Given the description of an element on the screen output the (x, y) to click on. 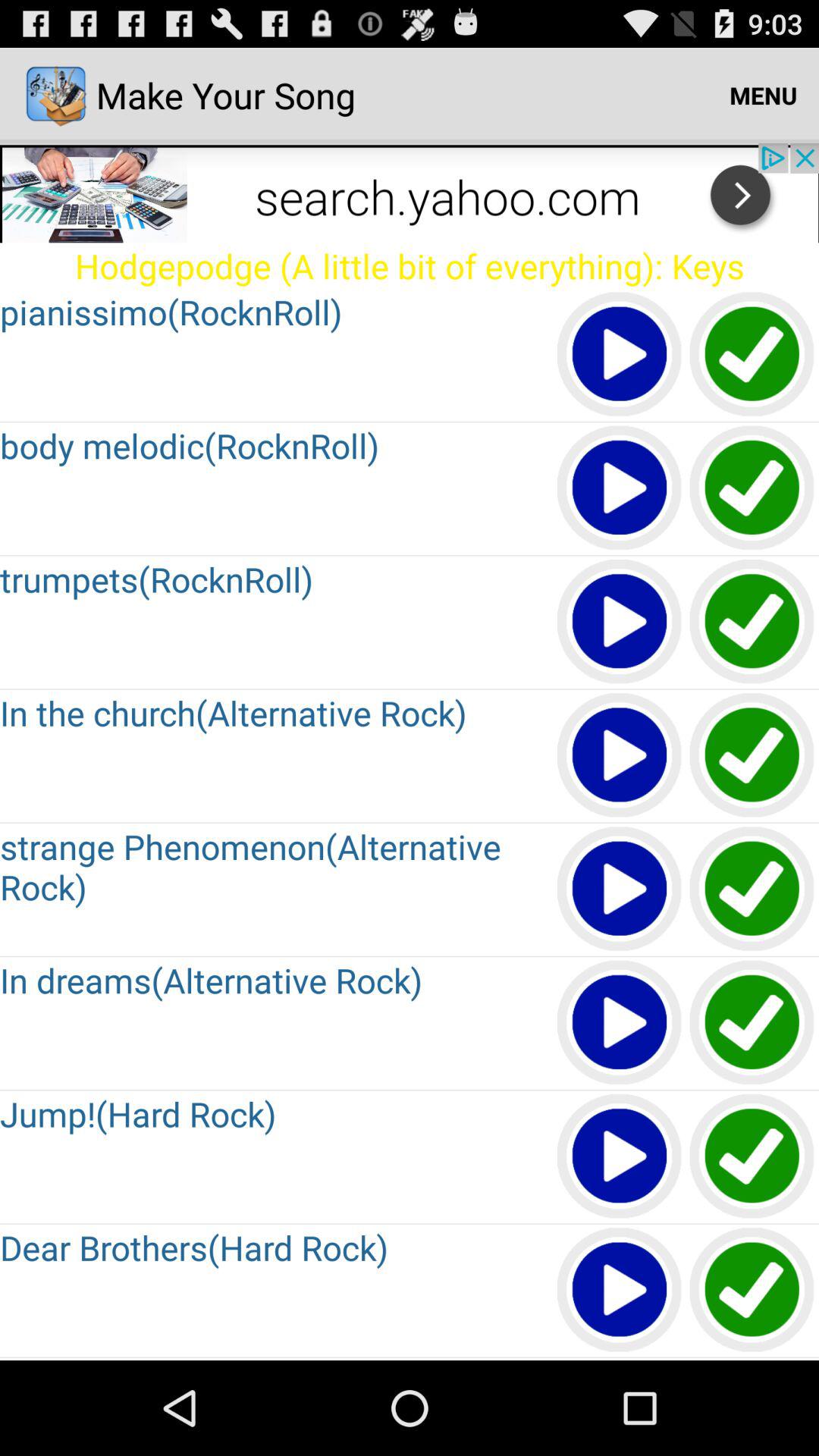
select button (752, 622)
